Given the description of an element on the screen output the (x, y) to click on. 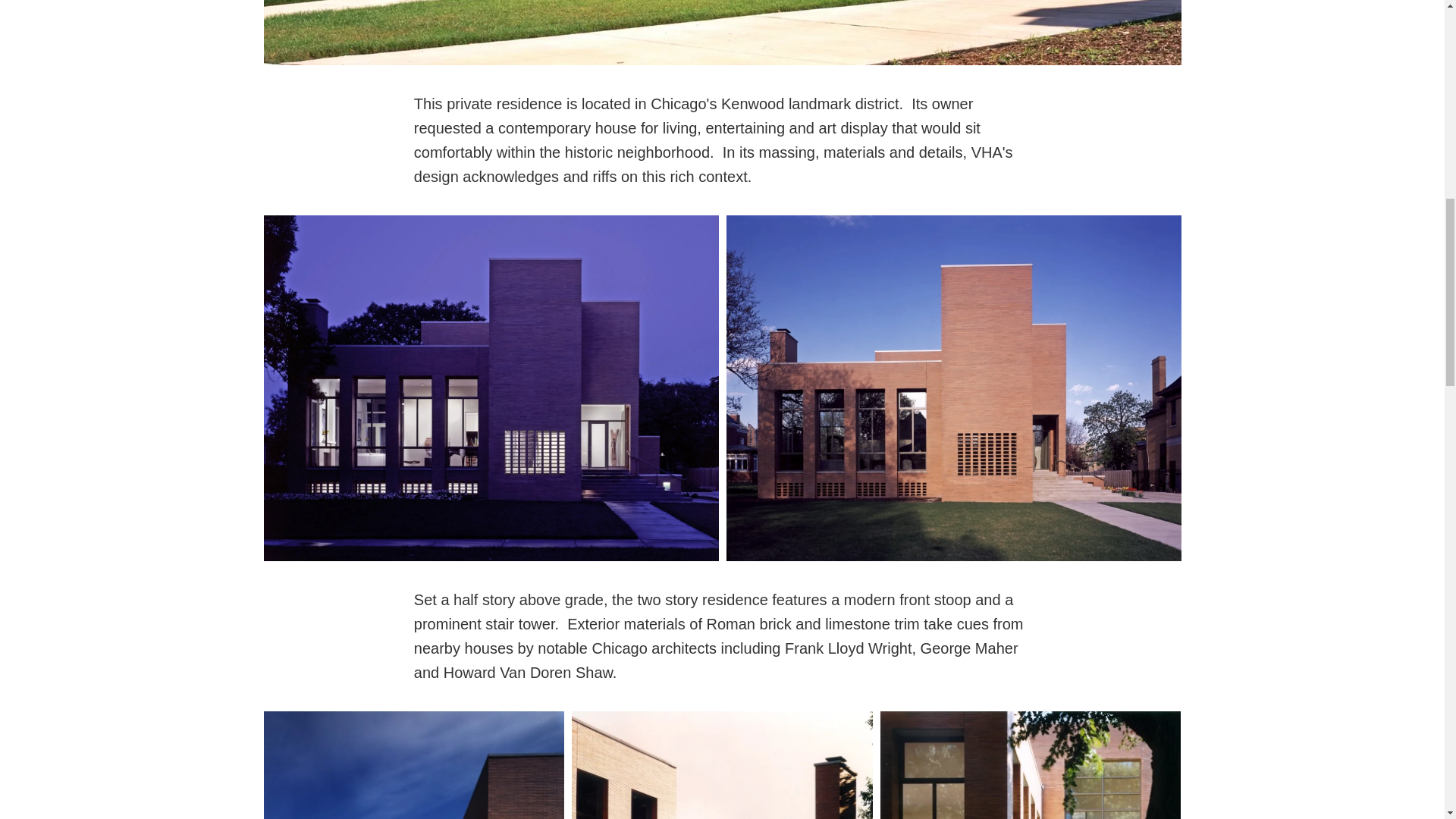
S Kenwood 10 (1030, 765)
S Kenwood 3 (413, 765)
S Kenwood 9 (722, 765)
S Kenwood 8 (721, 33)
